Given the description of an element on the screen output the (x, y) to click on. 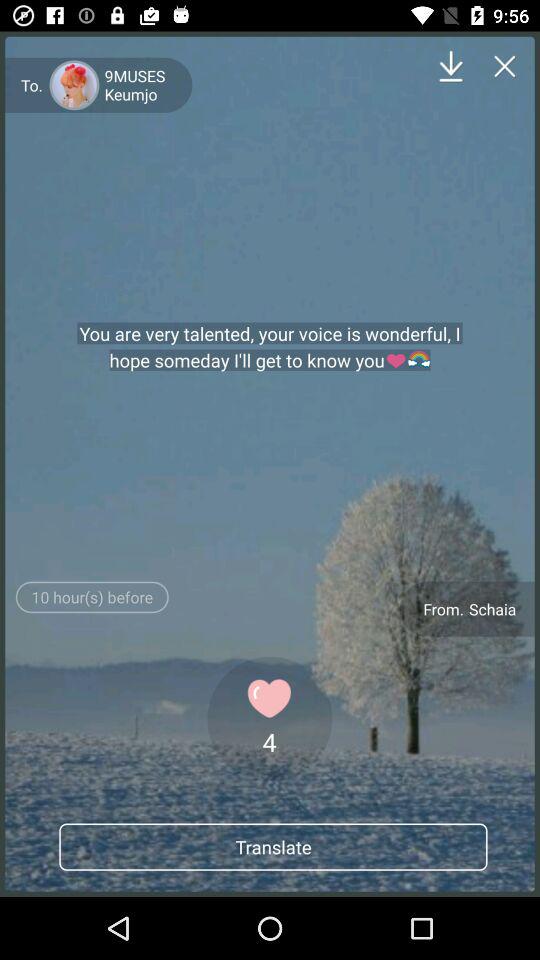
toggle down (450, 66)
